Given the description of an element on the screen output the (x, y) to click on. 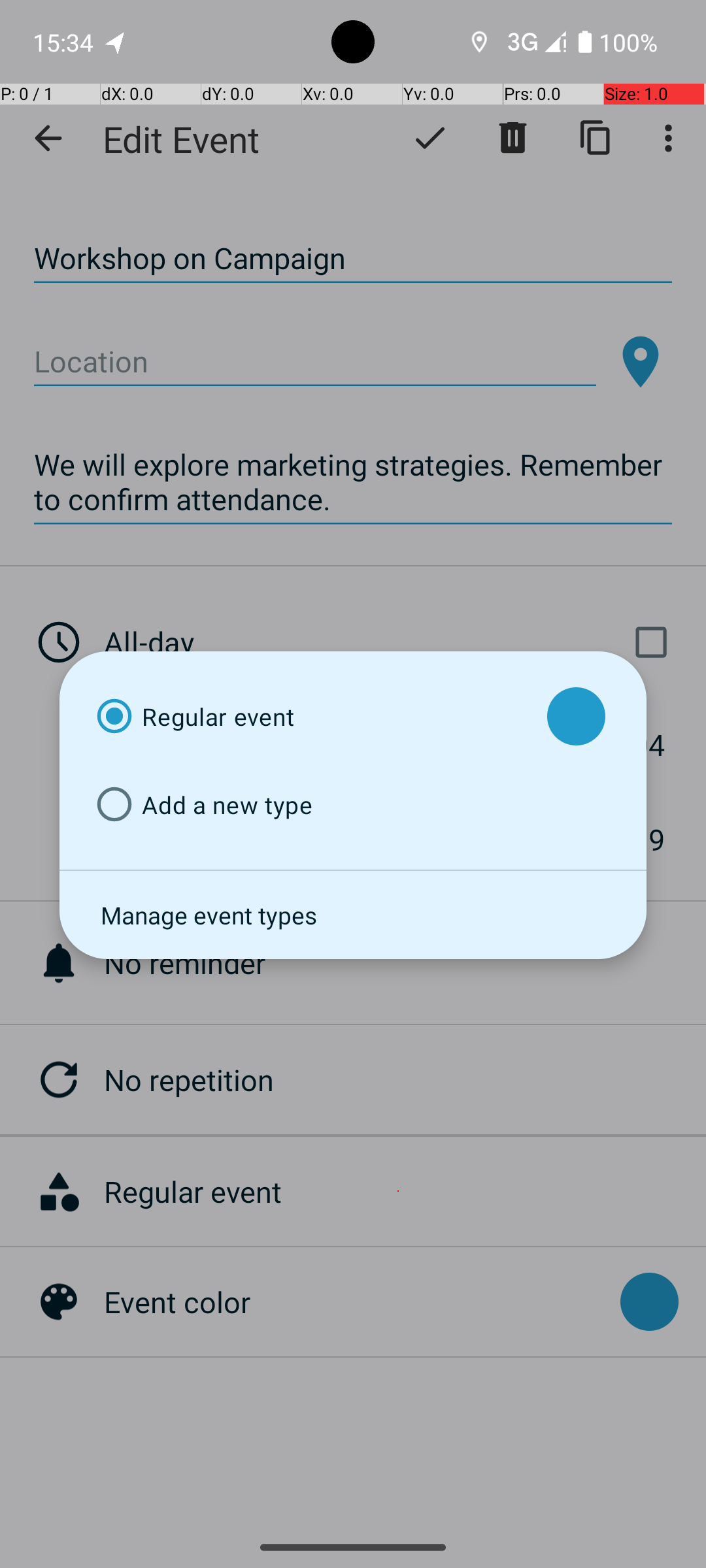
Manage event types Element type: android.widget.TextView (352, 914)
Add a new type Element type: android.widget.RadioButton (309, 804)
